Given the description of an element on the screen output the (x, y) to click on. 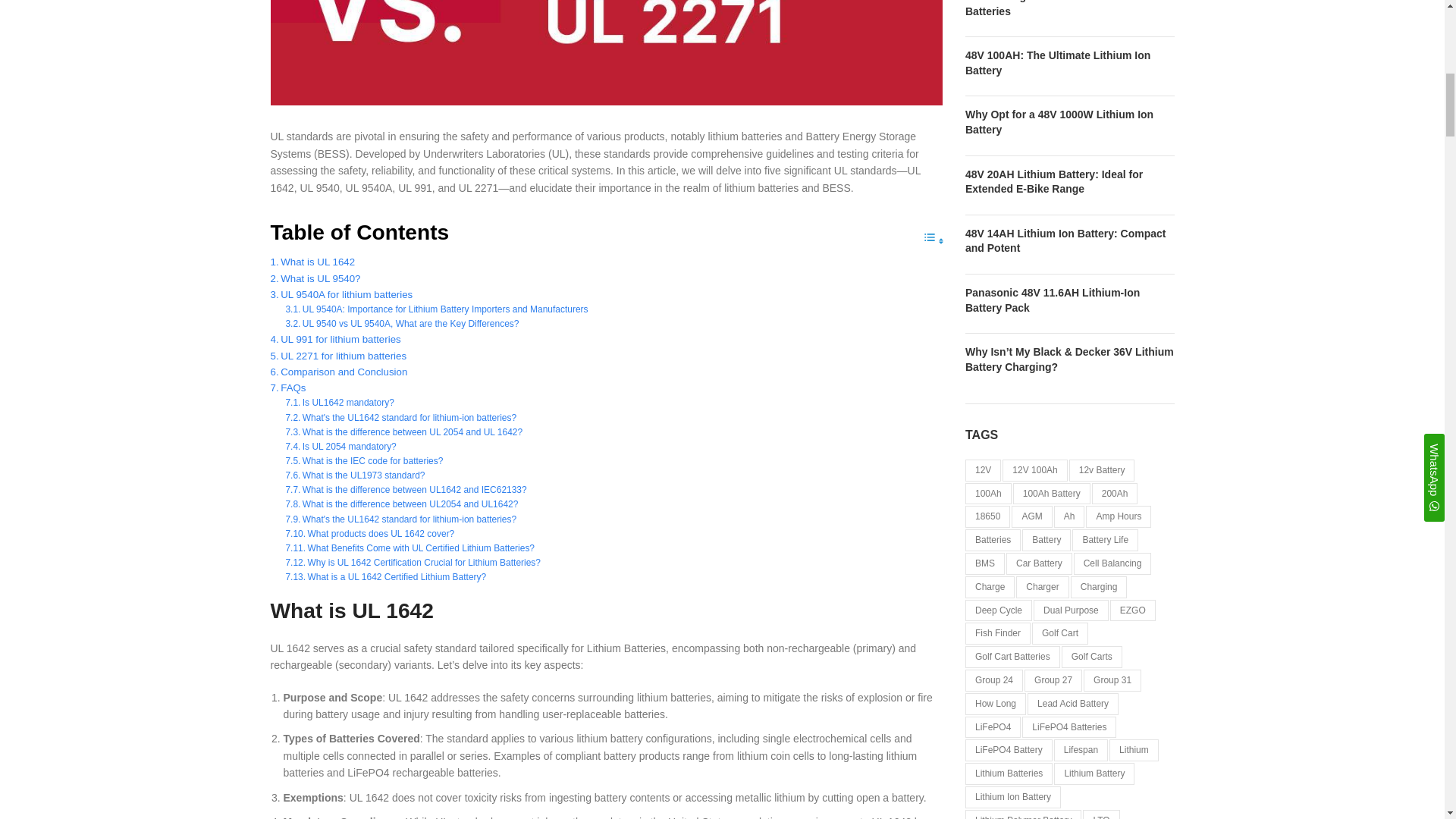
Is UL1642 mandatory? (339, 402)
What's the UL1642 standard for lithium-ion batteries? (400, 418)
Is UL 2054 mandatory? (340, 446)
UL 991 for lithium batteries (334, 339)
FAQs (287, 387)
UL 9540 vs UL 9540A, What are the Key Differences? (401, 323)
Comparison and Conclusion (338, 371)
What is UL 1642 (312, 261)
What is UL 9540? (314, 277)
What is the difference between UL 2054 and UL 1642? (403, 432)
UL 9540A for lithium batteries (340, 294)
UL 2271 for lithium batteries (337, 355)
